Given the description of an element on the screen output the (x, y) to click on. 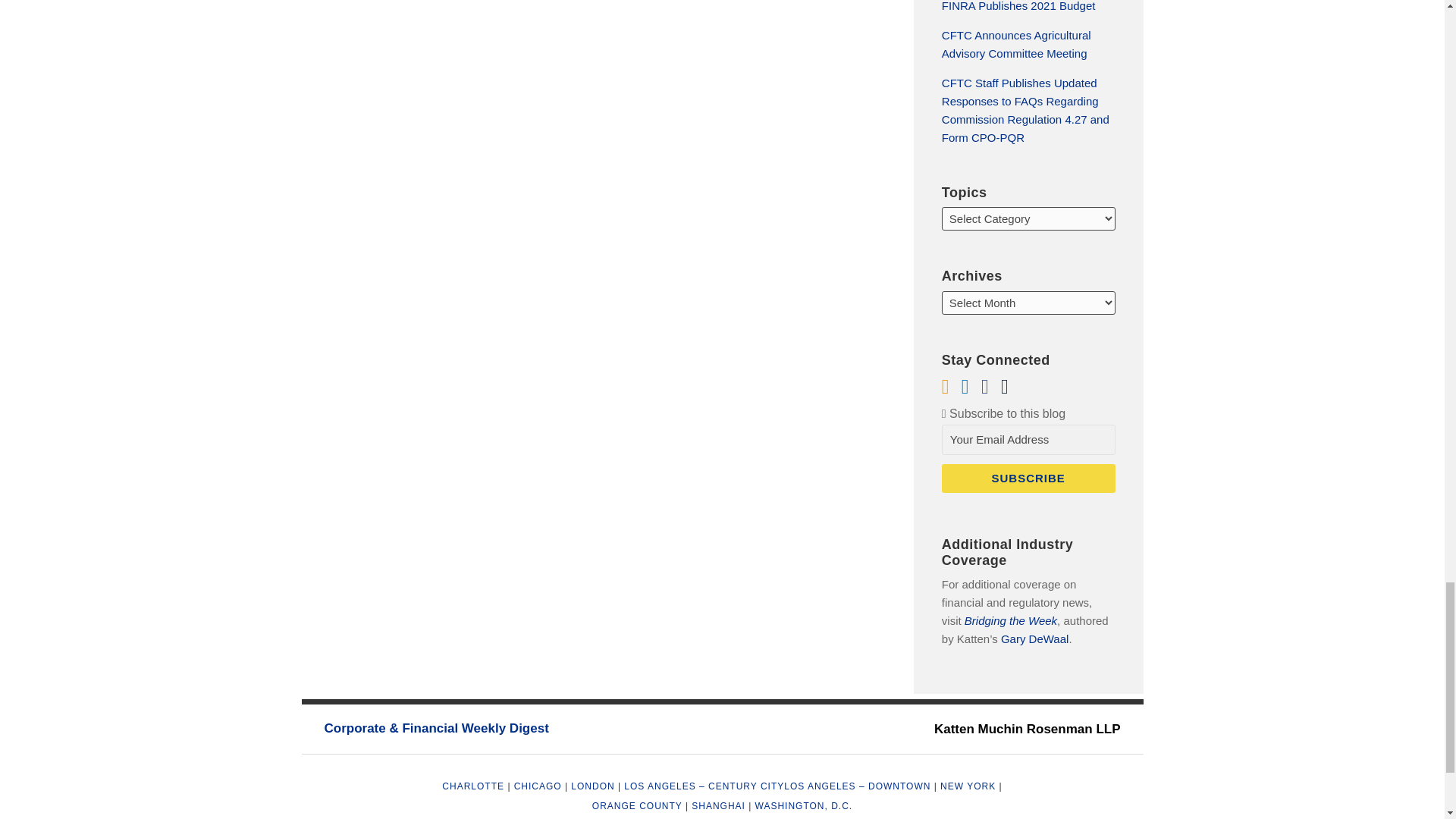
Subscribe (1028, 478)
